Given the description of an element on the screen output the (x, y) to click on. 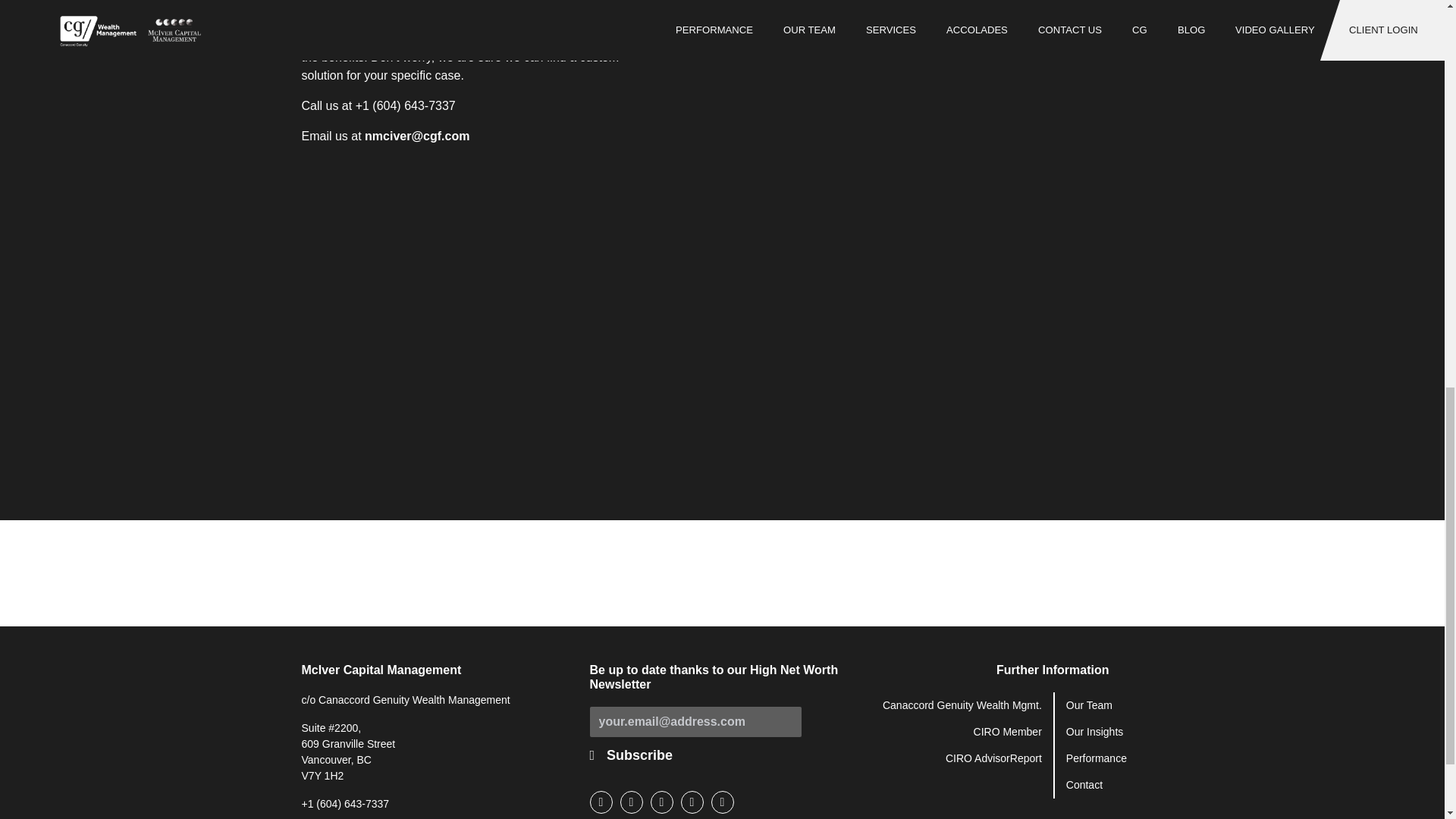
CIRO Member (1008, 731)
CIRO AdvisorReport (993, 758)
Subscribe (639, 755)
Subscribe (639, 755)
